Given the description of an element on the screen output the (x, y) to click on. 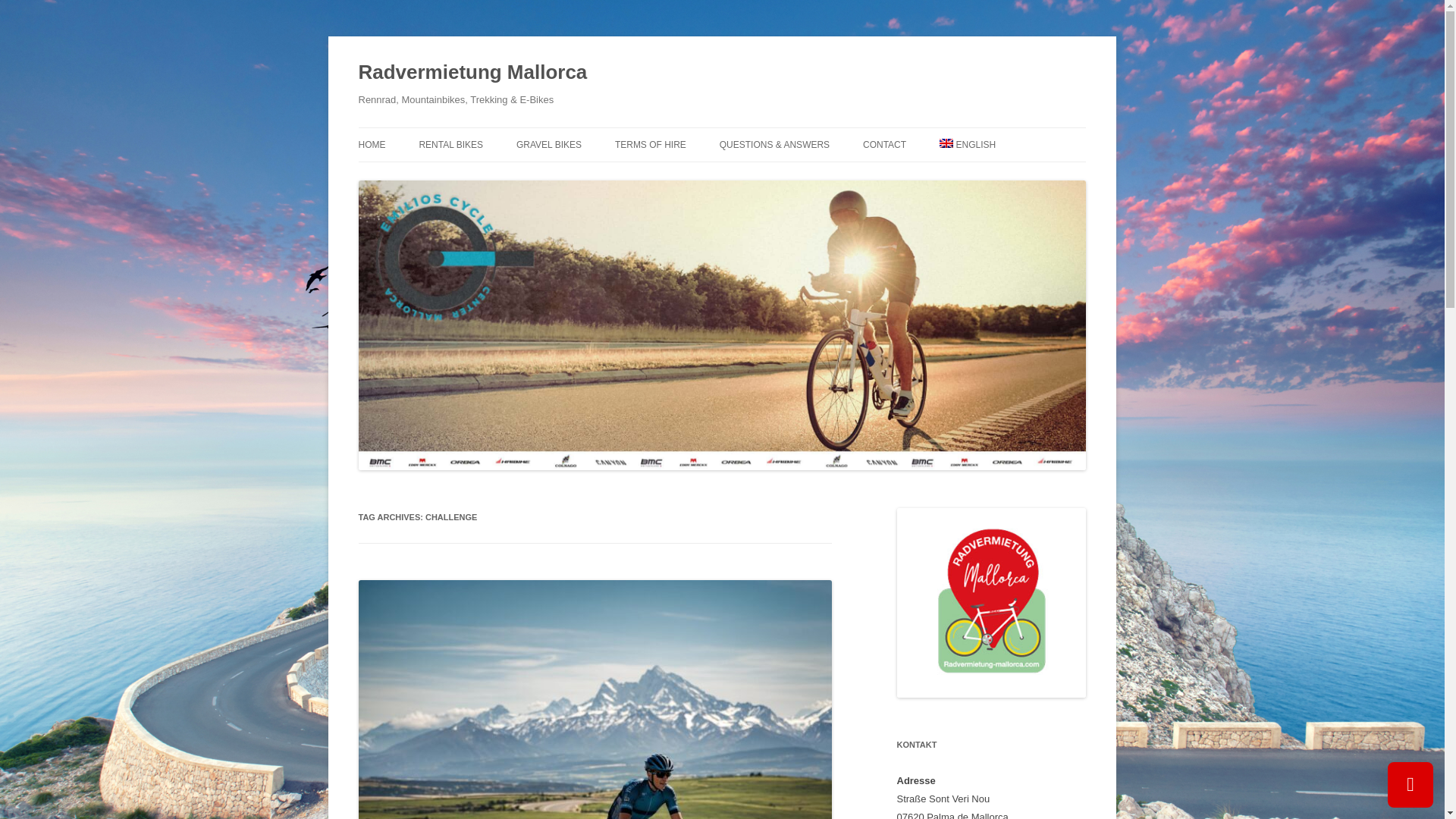
TERMS OF HIRE (649, 144)
English (967, 144)
CONTACT (884, 144)
PLAYA DE PALMA BIKE RENTAL (494, 176)
HOME (371, 144)
Radvermietung Mallorca (472, 72)
ENGLISH (967, 144)
RENTAL BIKES (451, 144)
BLOG (938, 176)
GRAVEL BIKES (548, 144)
